Given the description of an element on the screen output the (x, y) to click on. 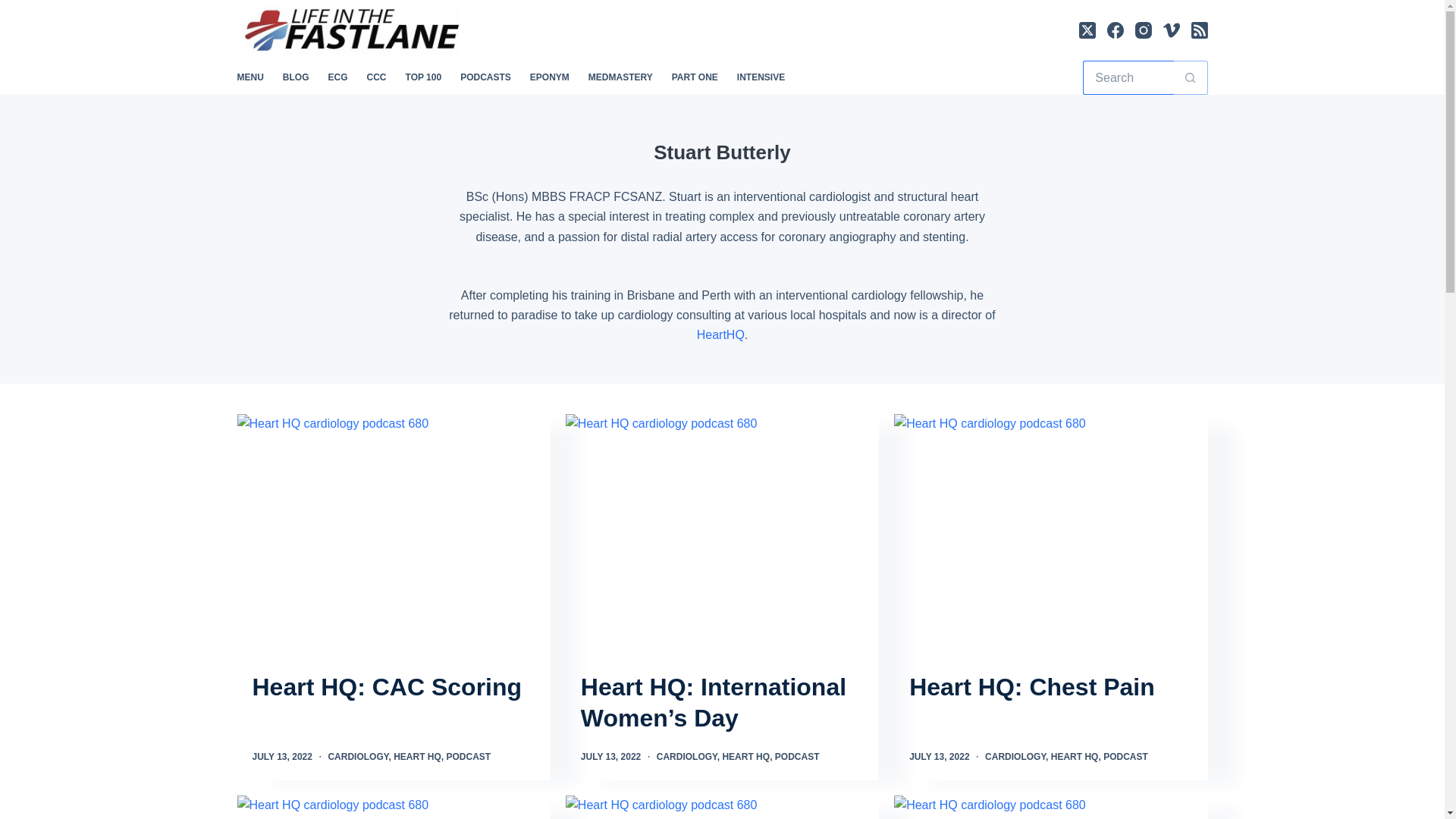
EPONYM (548, 77)
HEART HQ (417, 756)
BLOG (295, 77)
PART ONE (694, 77)
CARDIOLOGY (357, 756)
Skip to content (15, 7)
PODCASTS (486, 77)
Heart HQ: CAC Scoring (386, 687)
Stuart Butterly (722, 151)
TOP 100 (423, 77)
INTENSIVE (759, 77)
PODCAST (467, 756)
ECG (337, 77)
MEDMASTERY (620, 77)
Search for... (1128, 77)
